Given the description of an element on the screen output the (x, y) to click on. 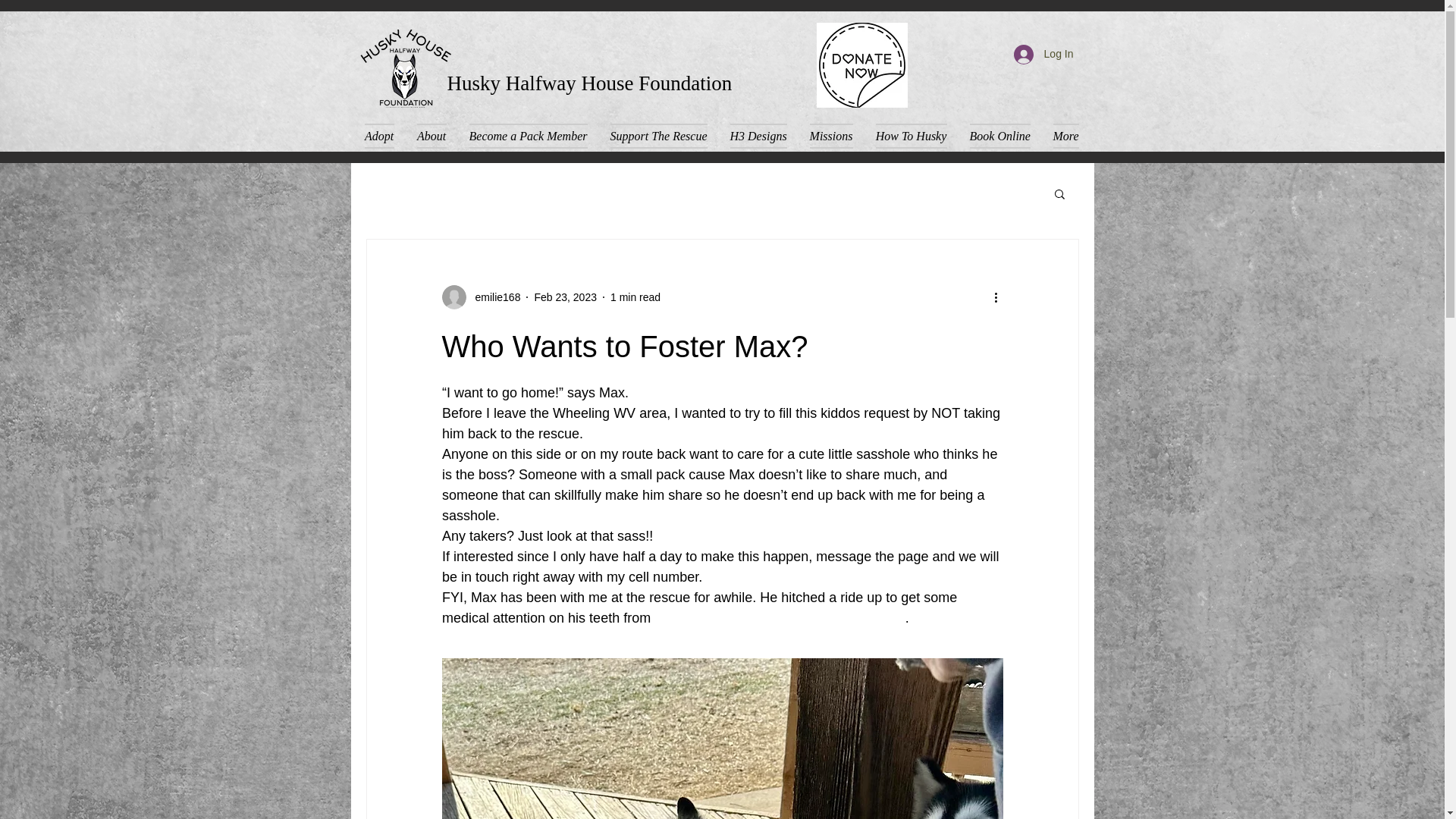
Book Online (1000, 135)
emilie168 (480, 297)
H3 Designs (758, 135)
emilie168 (492, 297)
How To Husky (911, 135)
Log In (1043, 54)
Adopt (384, 135)
1 min read (635, 297)
Feb 23, 2023 (565, 297)
Missions (830, 135)
KEY Animal Hospital - Karl E. Yurko DVM (778, 617)
About (430, 135)
Support The Rescue (658, 135)
Become a Pack Member (528, 135)
